Given the description of an element on the screen output the (x, y) to click on. 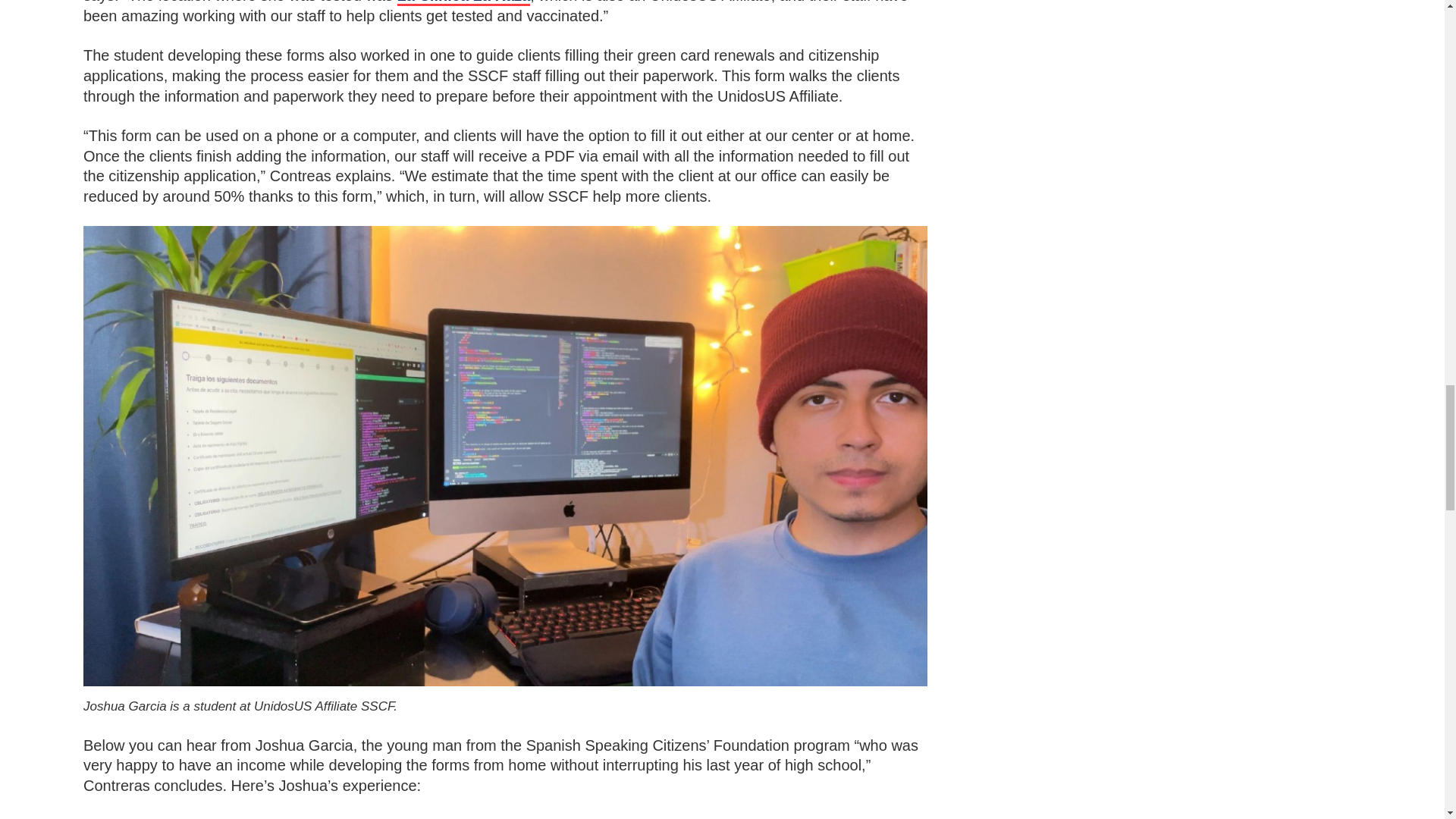
La Clinica La Raza (464, 2)
